Given the description of an element on the screen output the (x, y) to click on. 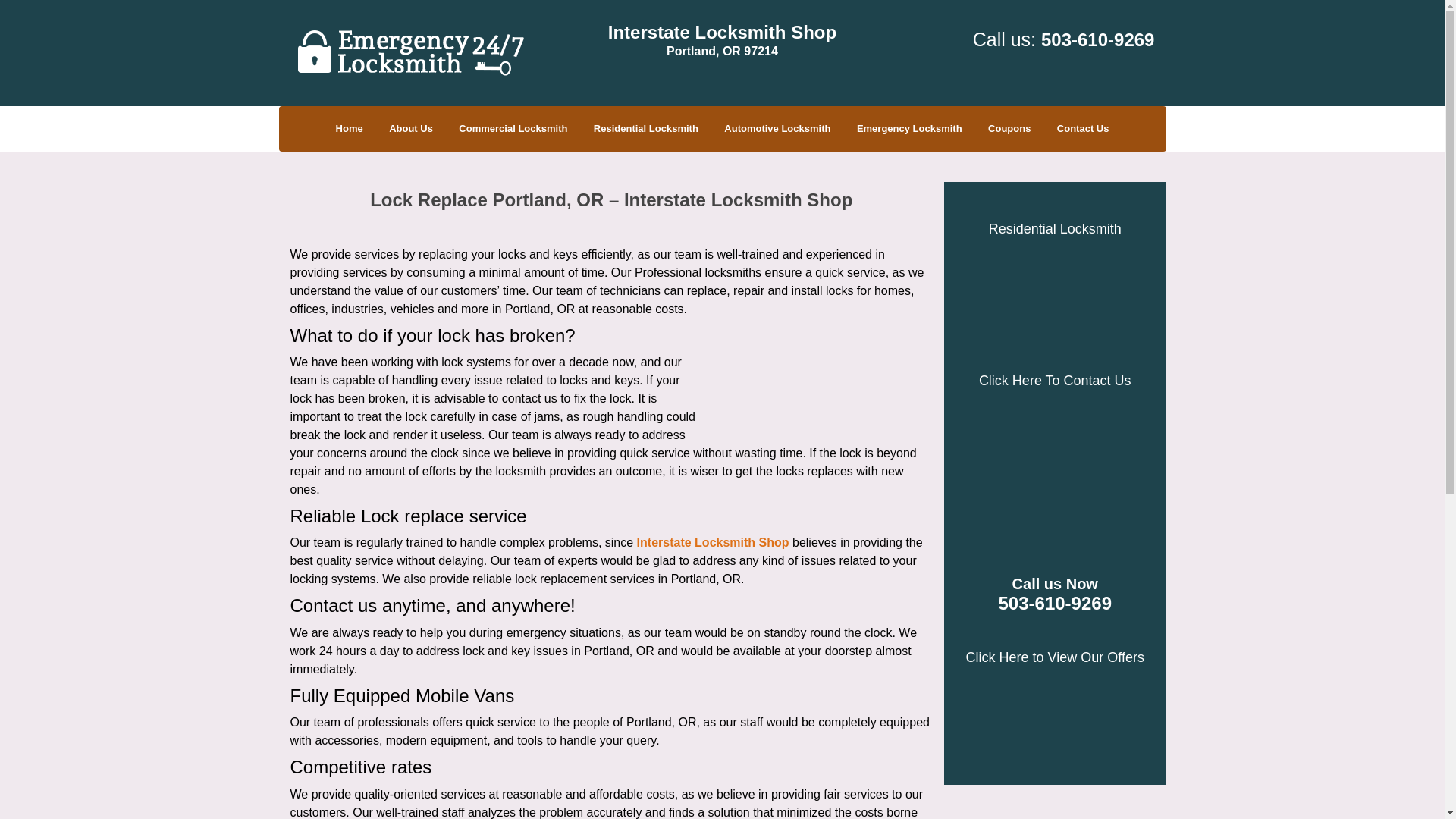
About Us (410, 128)
Interstate Locksmith Shop (713, 542)
503-610-9269 (1097, 39)
Automotive Locksmith (777, 128)
Coupons (1009, 128)
503-610-9269 (1055, 604)
Click Here To Contact Us (1054, 380)
Click Here to View Our Offers (1055, 657)
Residential Locksmith (646, 128)
Home (349, 128)
Residential Locksmith (1054, 229)
Emergency Locksmith (909, 128)
Commercial Locksmith (512, 128)
Contact Us (1083, 128)
